Given the description of an element on the screen output the (x, y) to click on. 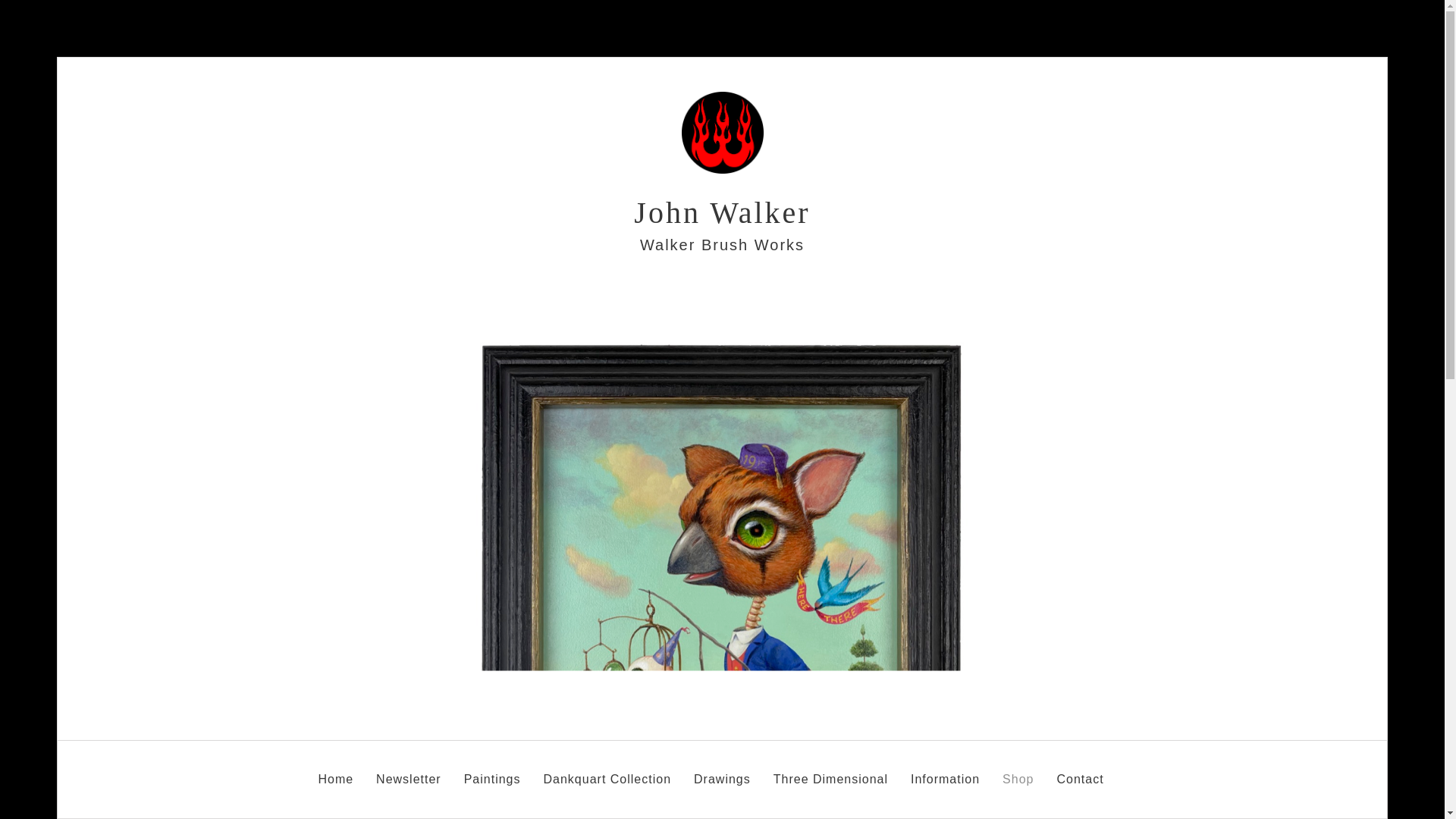
Shop (1018, 775)
Newsletter (408, 775)
Information (945, 775)
Three Dimensional (830, 775)
Drawings (722, 775)
Dankquart Collection (607, 775)
Home (335, 775)
Paintings (492, 775)
Contact (1080, 775)
